Given the description of an element on the screen output the (x, y) to click on. 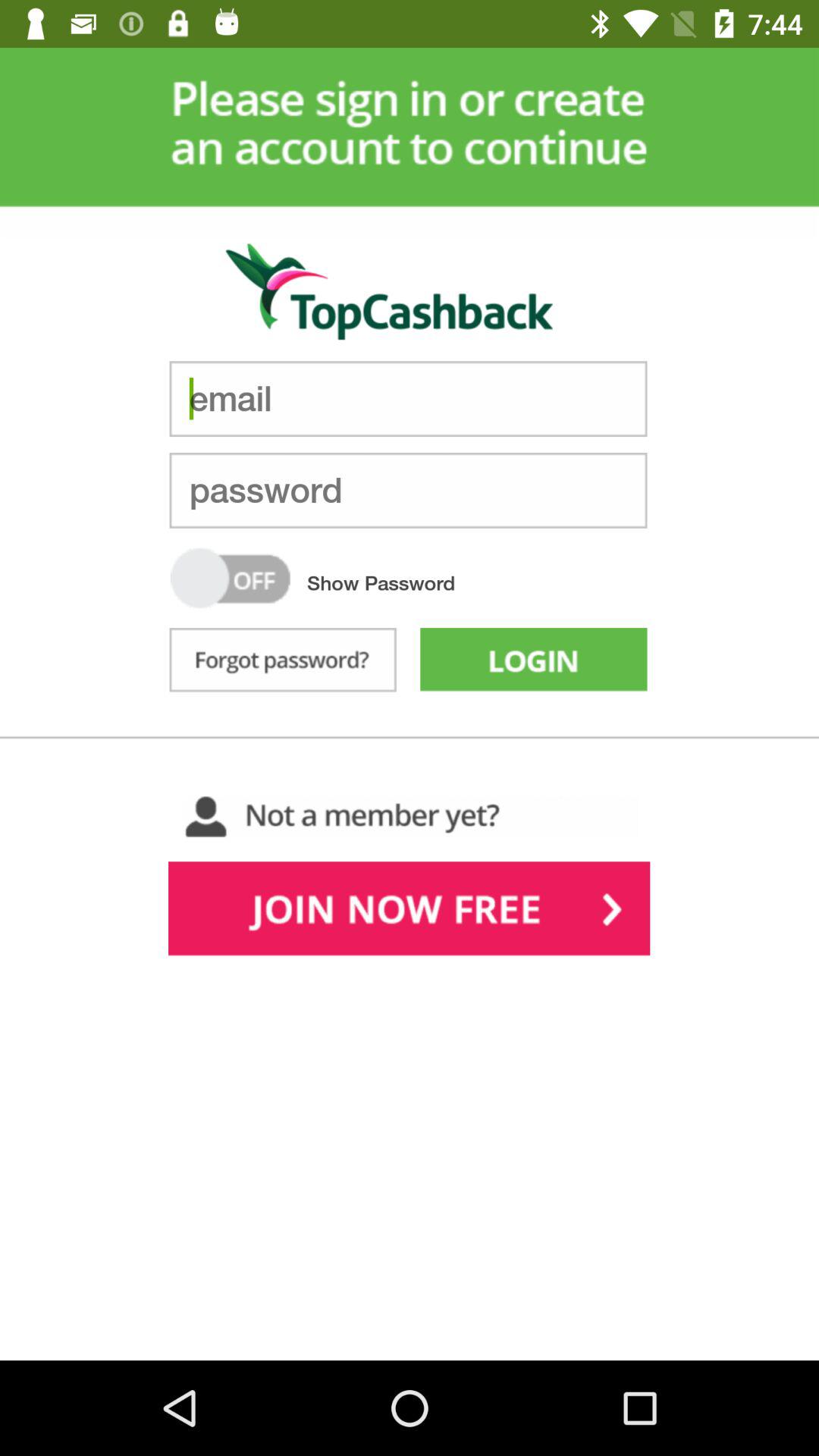
enter password (408, 490)
